Given the description of an element on the screen output the (x, y) to click on. 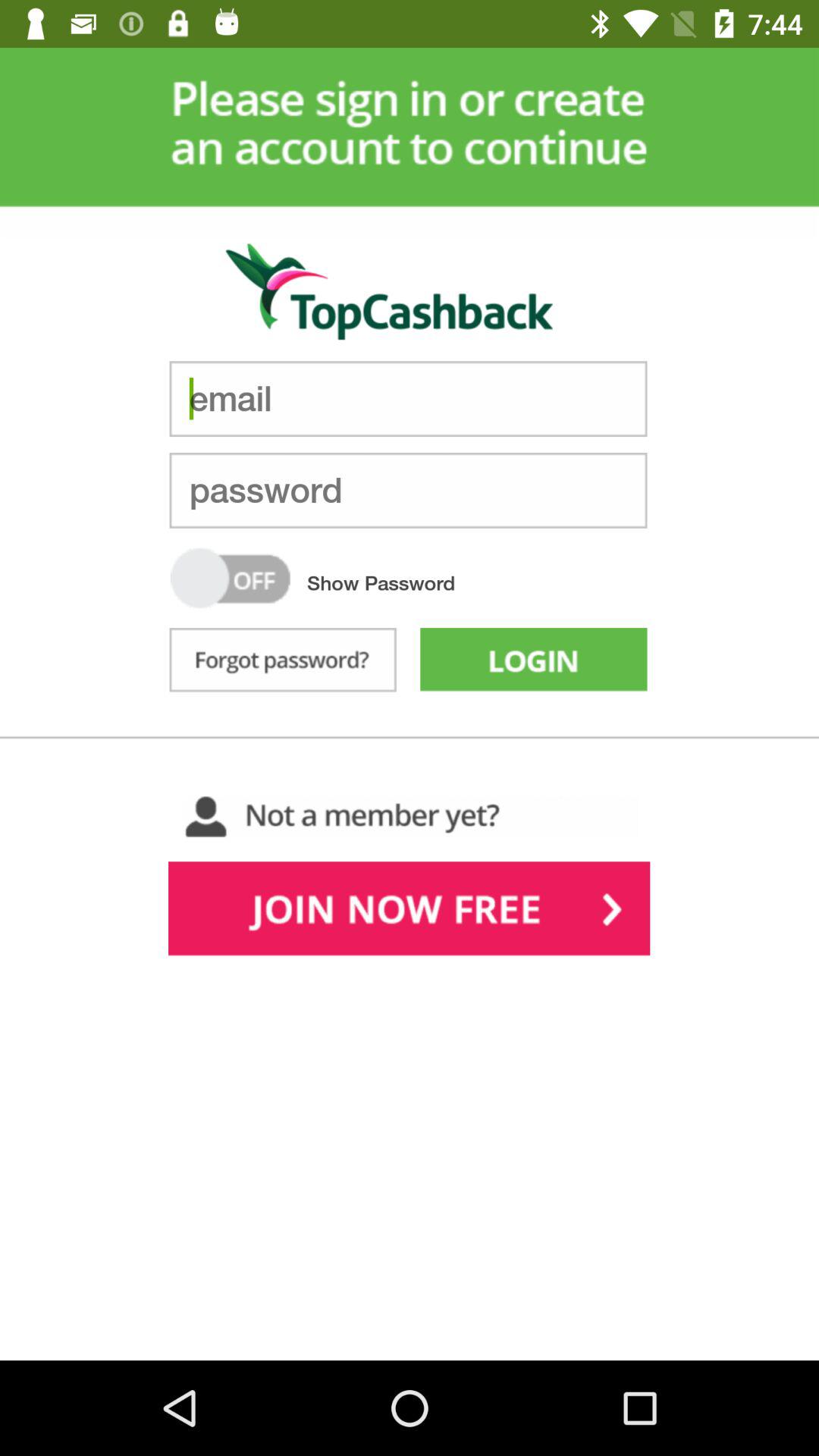
enter password (408, 490)
